Given the description of an element on the screen output the (x, y) to click on. 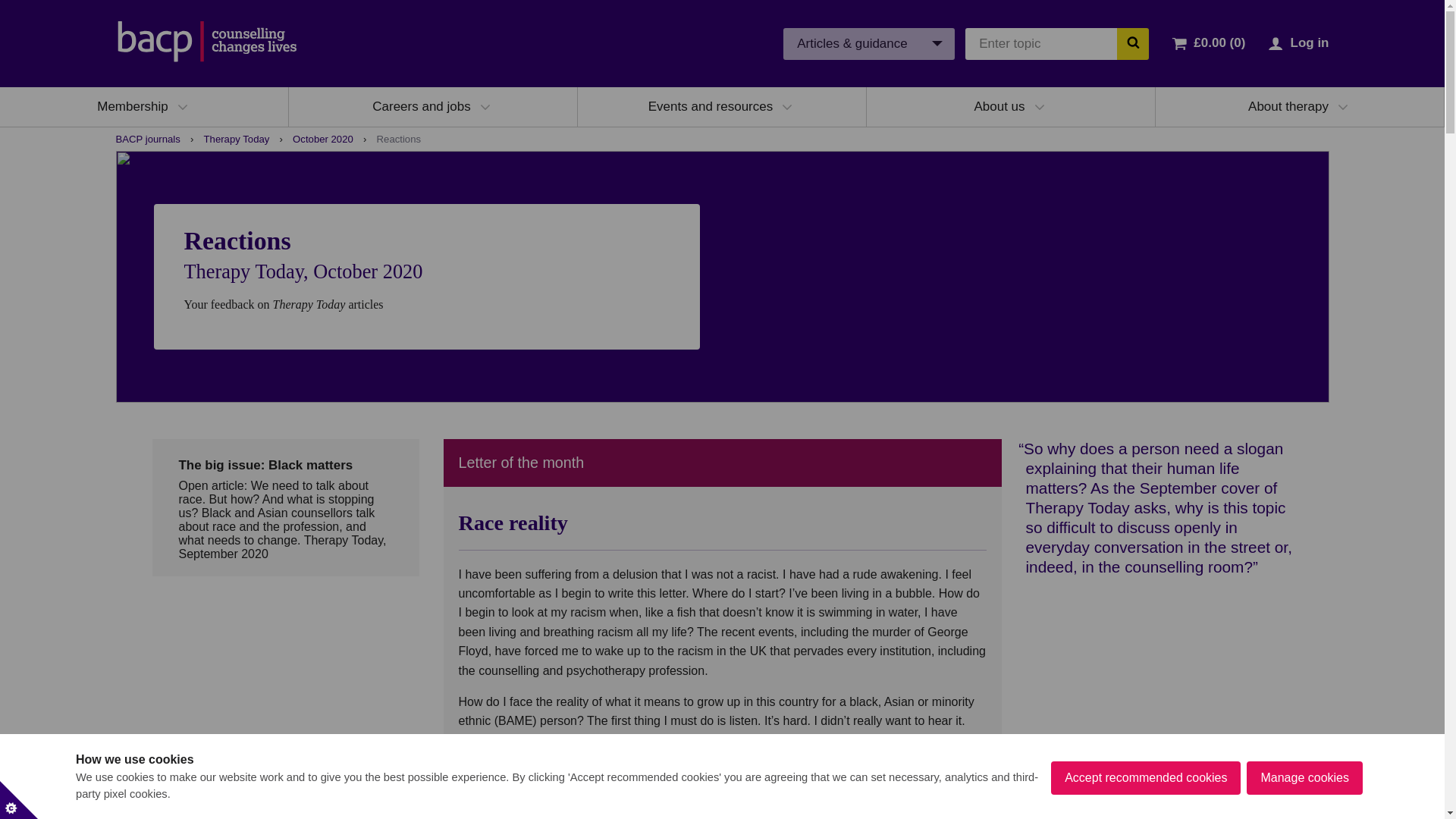
Events and resources (710, 106)
Careers and jobs (421, 106)
Search the BACP website (1132, 42)
Membership (132, 106)
Log in (1309, 42)
